Given the description of an element on the screen output the (x, y) to click on. 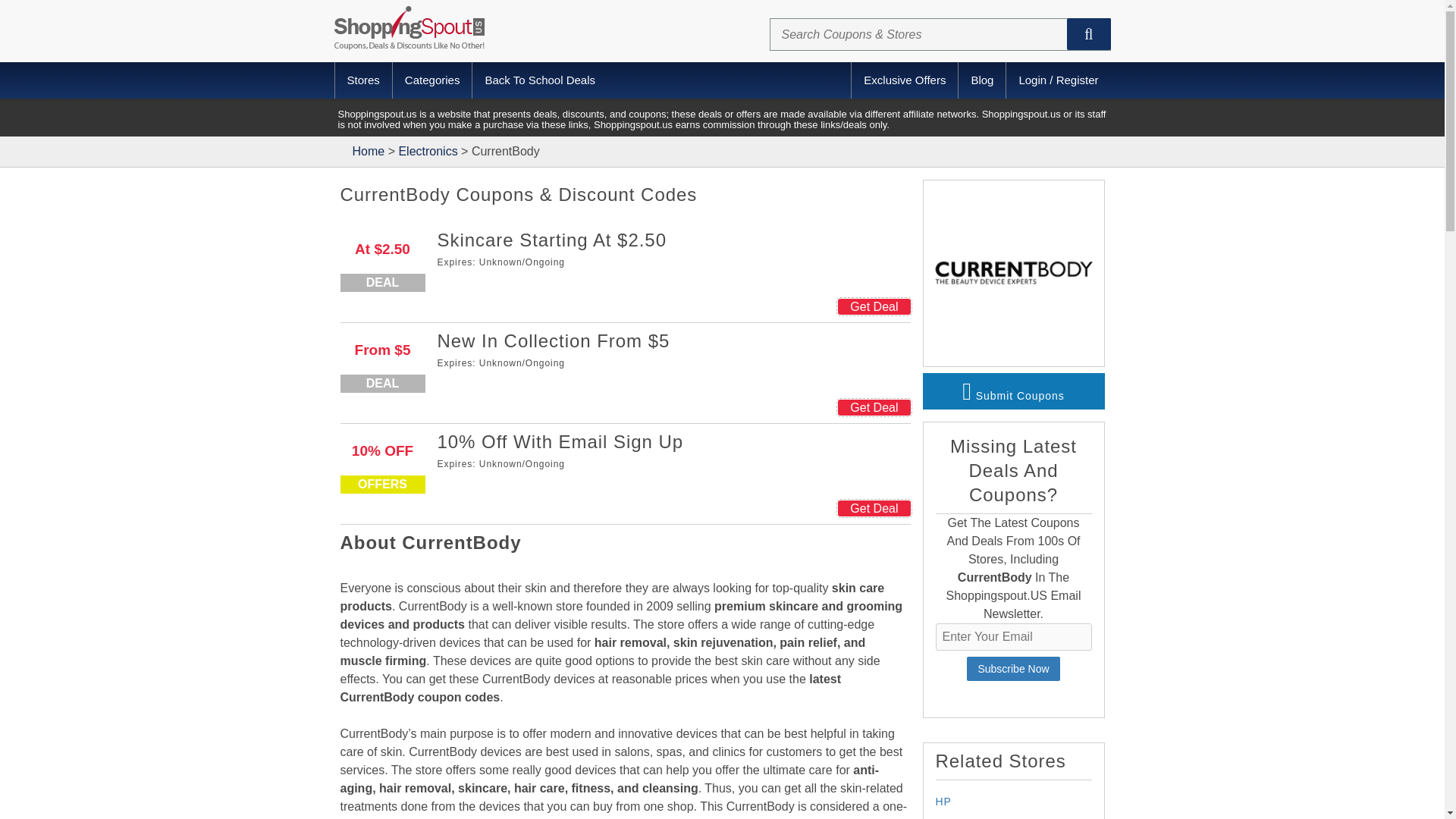
Exclusive Offers (903, 79)
CurrentBody (1013, 356)
Electronics (427, 151)
Home (369, 151)
HP (944, 801)
CurrentBody (1013, 270)
Submit Coupons (1012, 391)
Blog (981, 79)
ShoppingSpout US (369, 151)
Electronics (427, 151)
Categories (432, 80)
ShoppingSpout US (408, 27)
Stores (363, 80)
Subscribe Now (1012, 668)
Back To School Deals (539, 80)
